Given the description of an element on the screen output the (x, y) to click on. 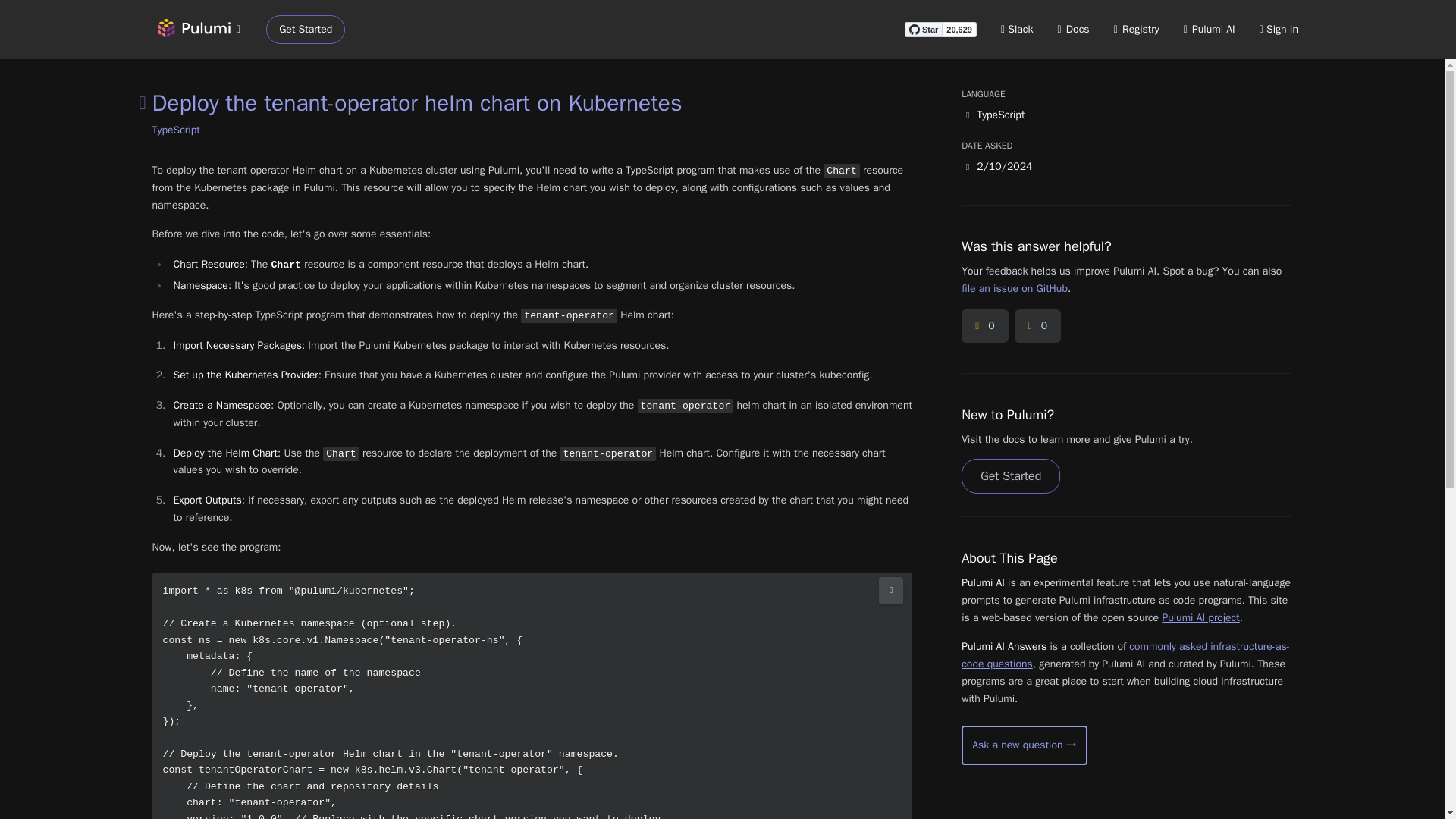
Get Started (1009, 475)
Downvote this answer (1037, 326)
Upvote this answer (984, 326)
Get Started (305, 29)
0 (1037, 326)
Sign In (1278, 29)
Start a new conversation with Pulumi AI (1023, 744)
file an issue on GitHub (1013, 287)
Registry (1135, 29)
20,629 (959, 29)
